Given the description of an element on the screen output the (x, y) to click on. 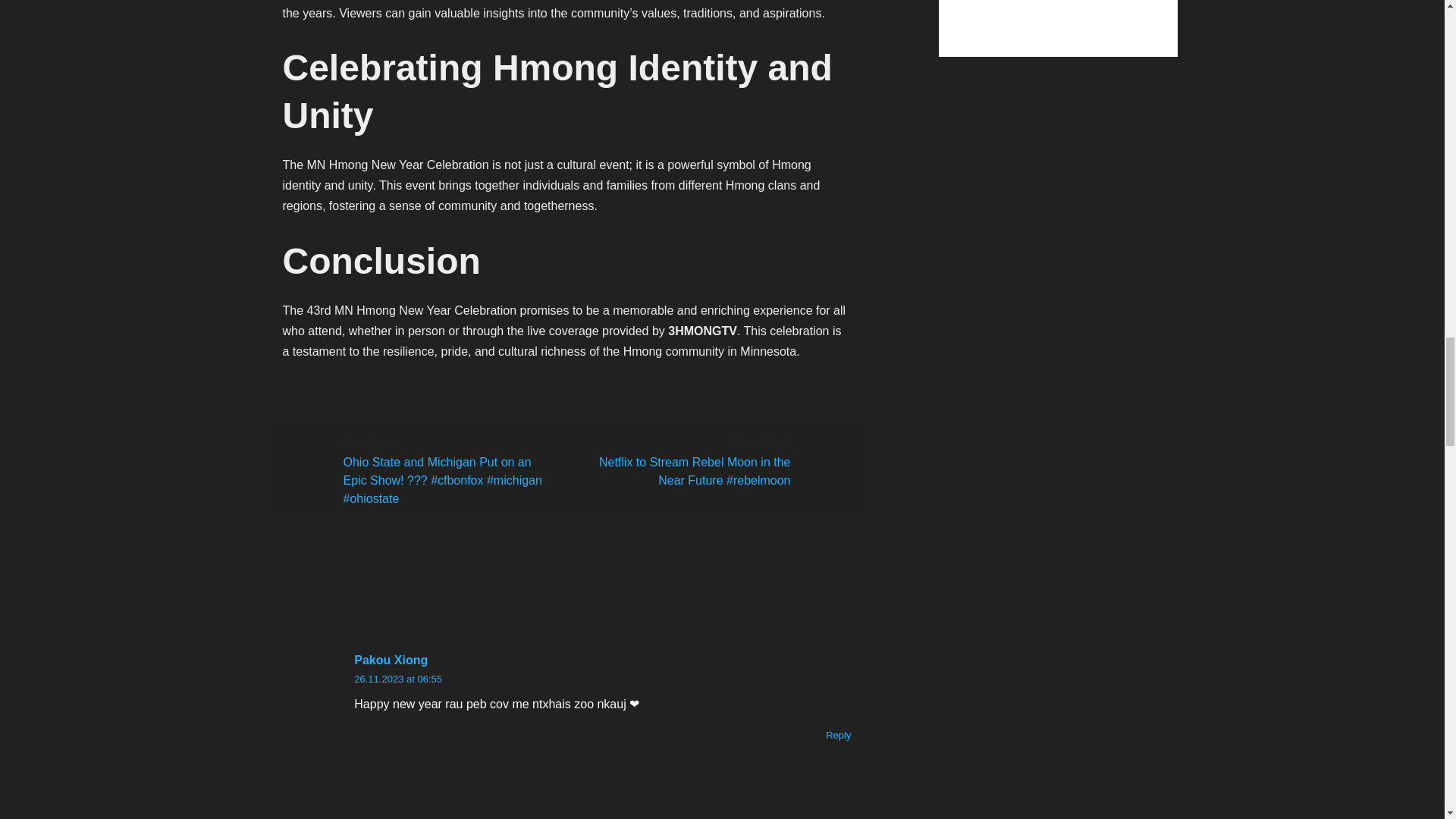
Pakou Xiong (601, 660)
Reply (837, 735)
26.11.2023 at 06:55 (397, 678)
